Given the description of an element on the screen output the (x, y) to click on. 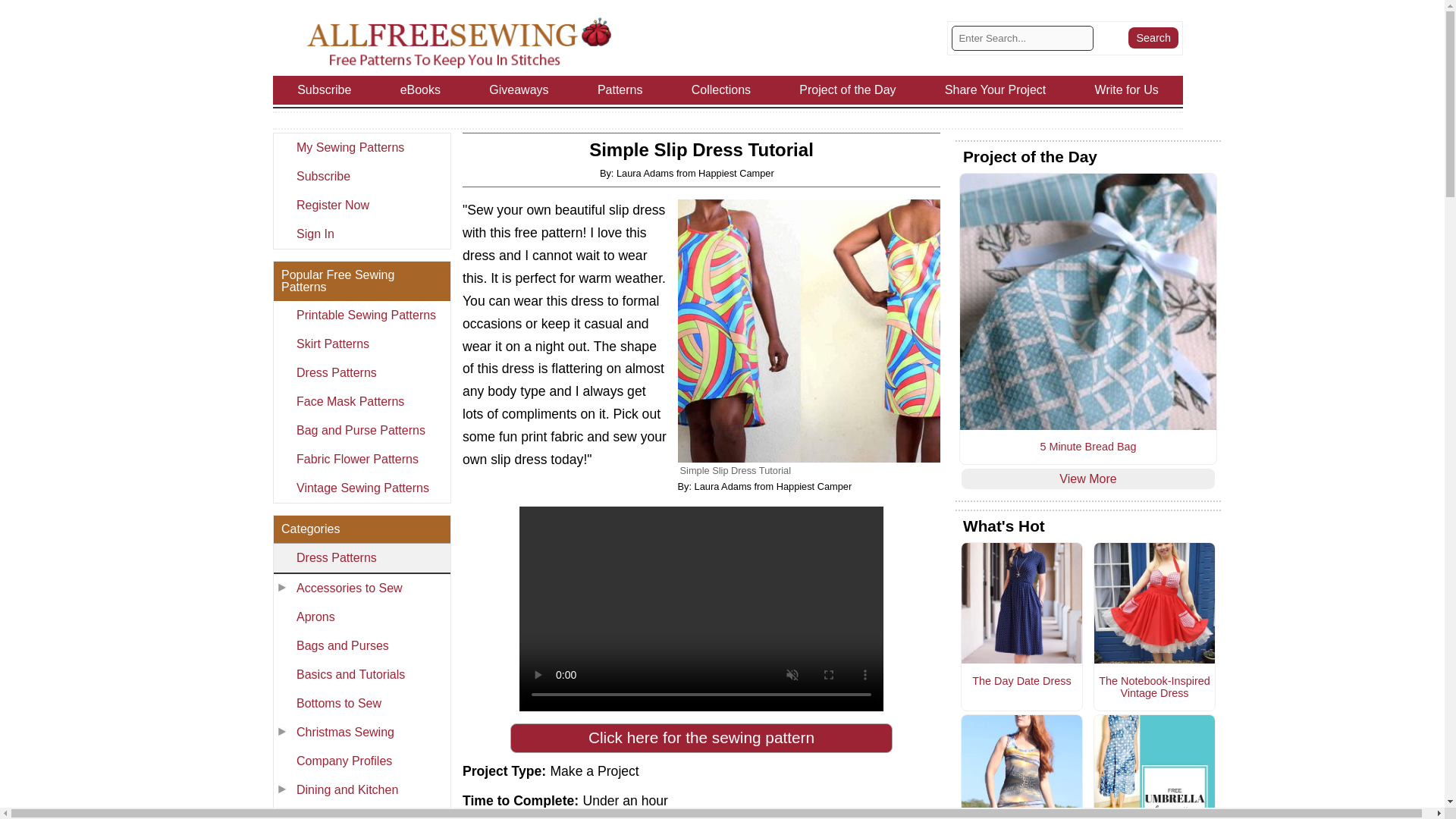
Subscribe (361, 176)
My Sewing Patterns (361, 147)
Simple Slip Dress Tutorial (809, 330)
Sign In (361, 234)
Register Now (361, 205)
Search (1152, 37)
